Given the description of an element on the screen output the (x, y) to click on. 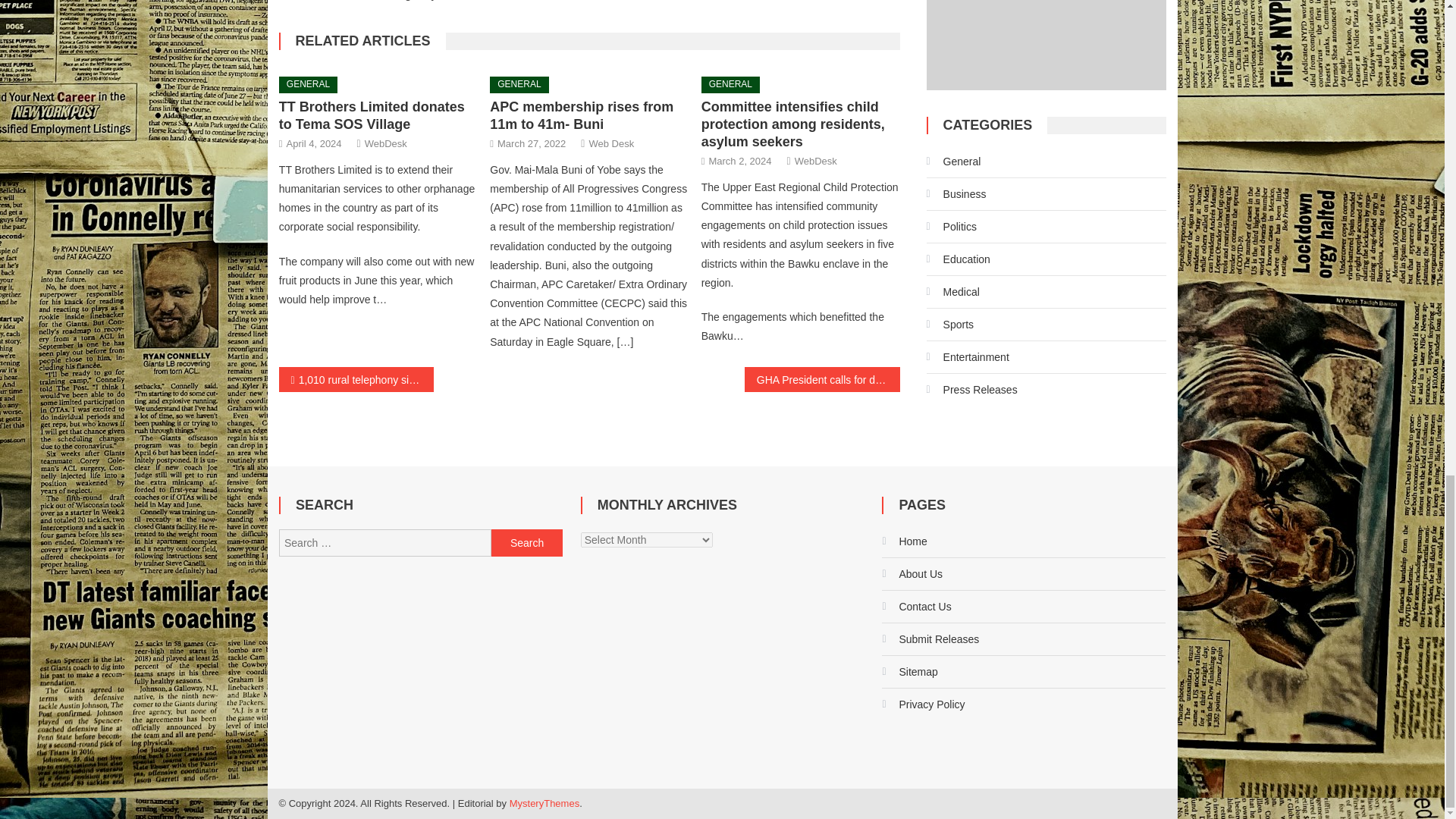
GENERAL (518, 84)
March 2, 2024 (739, 160)
WebDesk (815, 160)
March 27, 2022 (531, 143)
WebDesk (386, 143)
Search (527, 542)
TT Brothers Limited donates to Tema SOS Village (371, 115)
APC membership rises from 11m to 41m- Buni (580, 115)
Search (527, 542)
Web Desk (610, 143)
GENERAL (308, 84)
General (953, 161)
April 4, 2024 (314, 143)
